Given the description of an element on the screen output the (x, y) to click on. 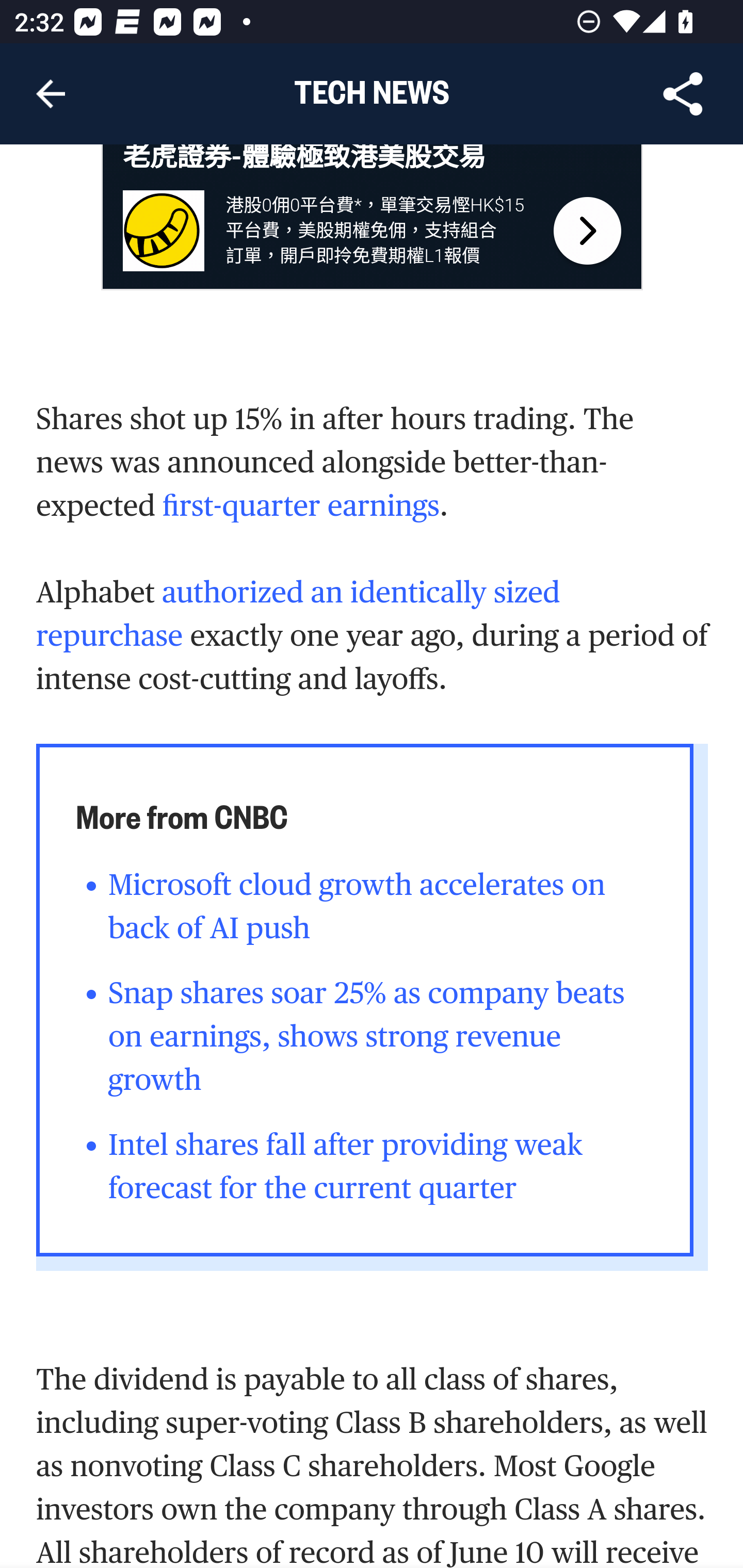
Navigate up (50, 93)
Share Article, button (683, 94)
老虎證券-體驗極致港美股交易 (304, 159)
first-quarter earnings (301, 507)
authorized an identically sized repurchase (298, 615)
